Given the description of an element on the screen output the (x, y) to click on. 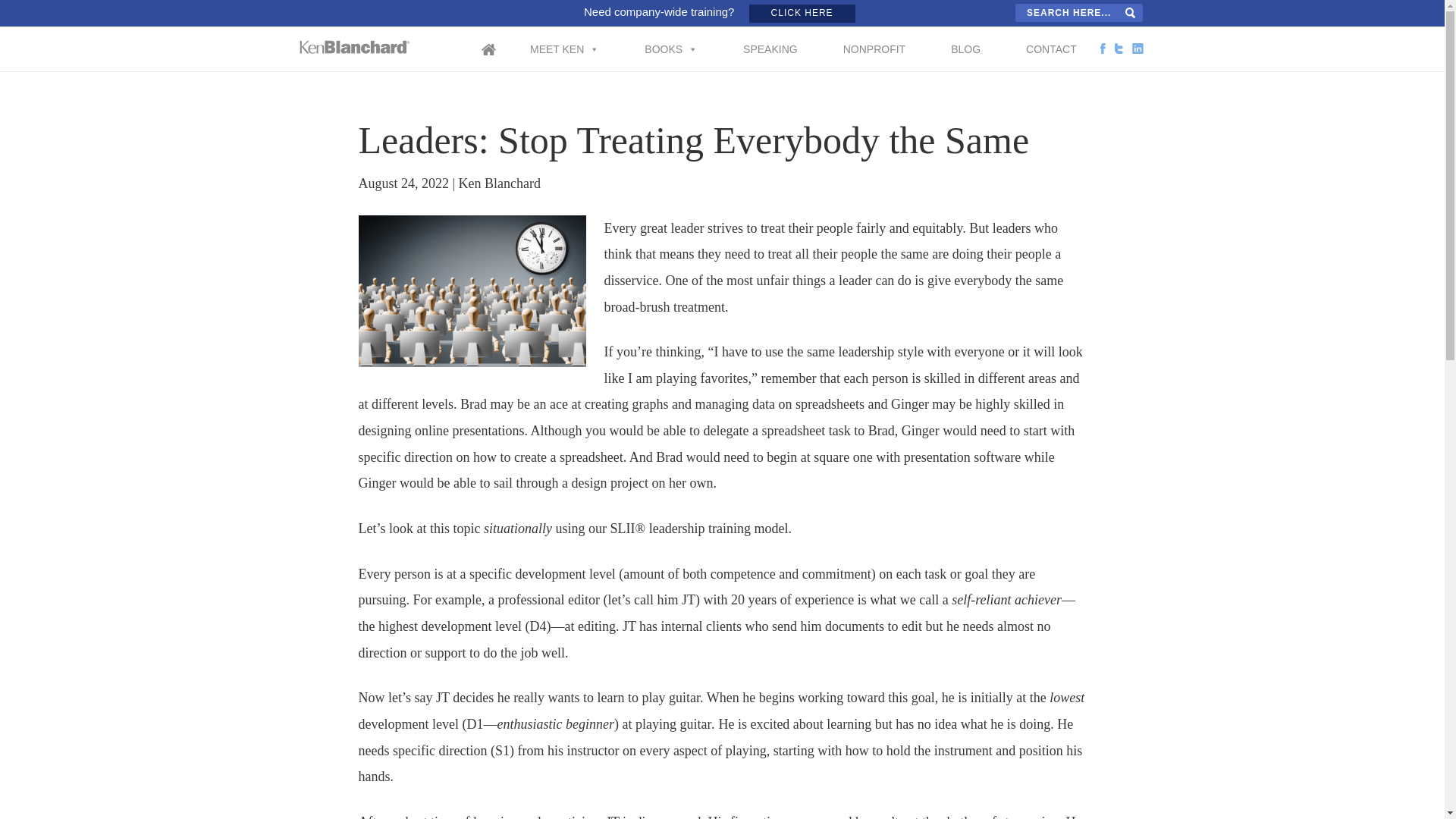
CLICK HERE (802, 13)
MEET KEN (563, 41)
BLOG (965, 41)
BOOKS (670, 41)
SPEAKING (770, 41)
CONTACT (1051, 41)
NONPROFIT (874, 41)
KEN BLANCHARD BOOKS (354, 47)
HOME (504, 59)
